Given the description of an element on the screen output the (x, y) to click on. 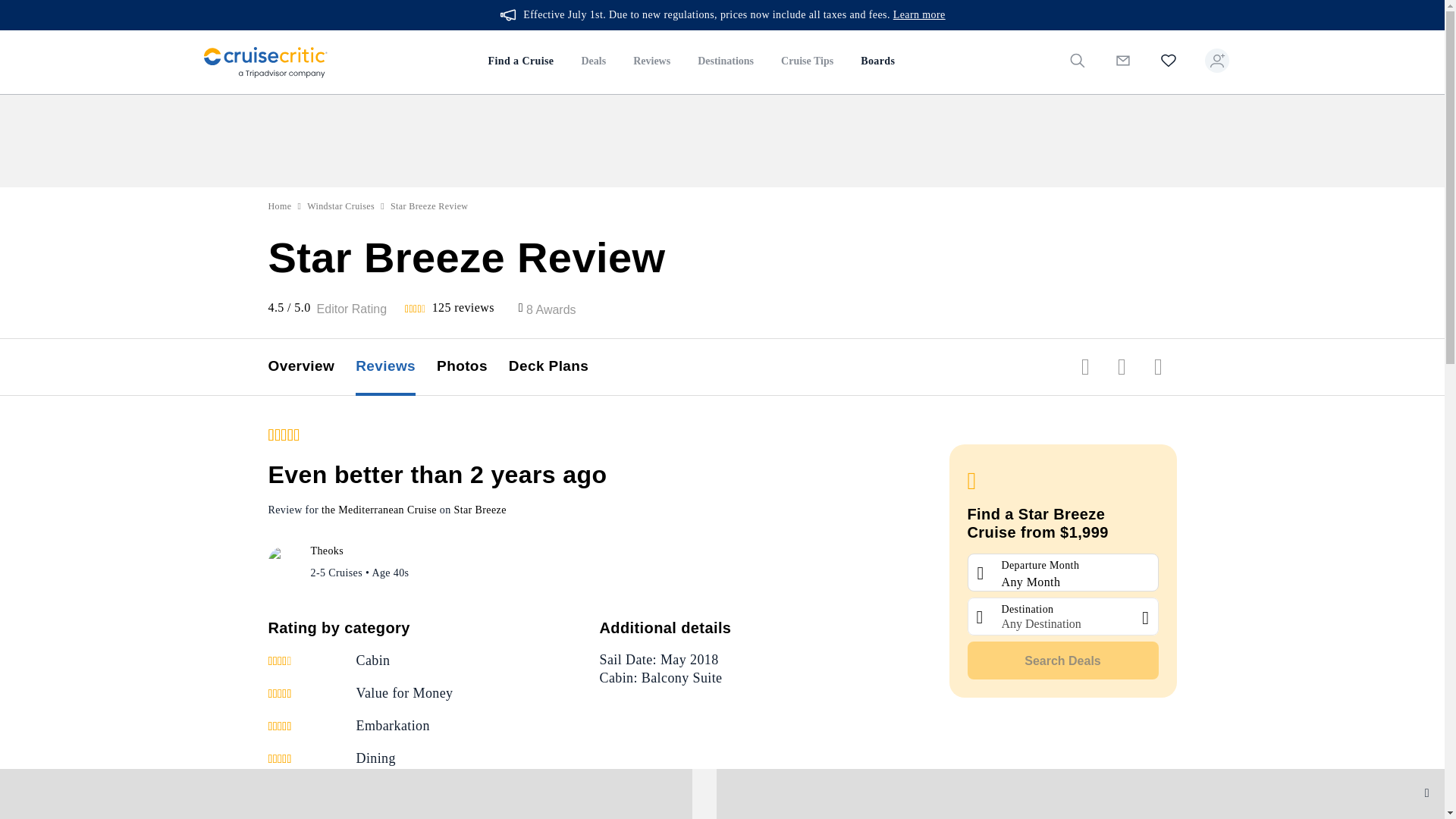
Deck Plans (559, 366)
Editor Rating (352, 309)
Home (279, 205)
Reviews (395, 366)
Learn more (918, 15)
Cruise Tips (806, 62)
Destinations (725, 62)
Find a Cruise (521, 62)
Boards (877, 62)
Star Breeze Review (429, 205)
